Given the description of an element on the screen output the (x, y) to click on. 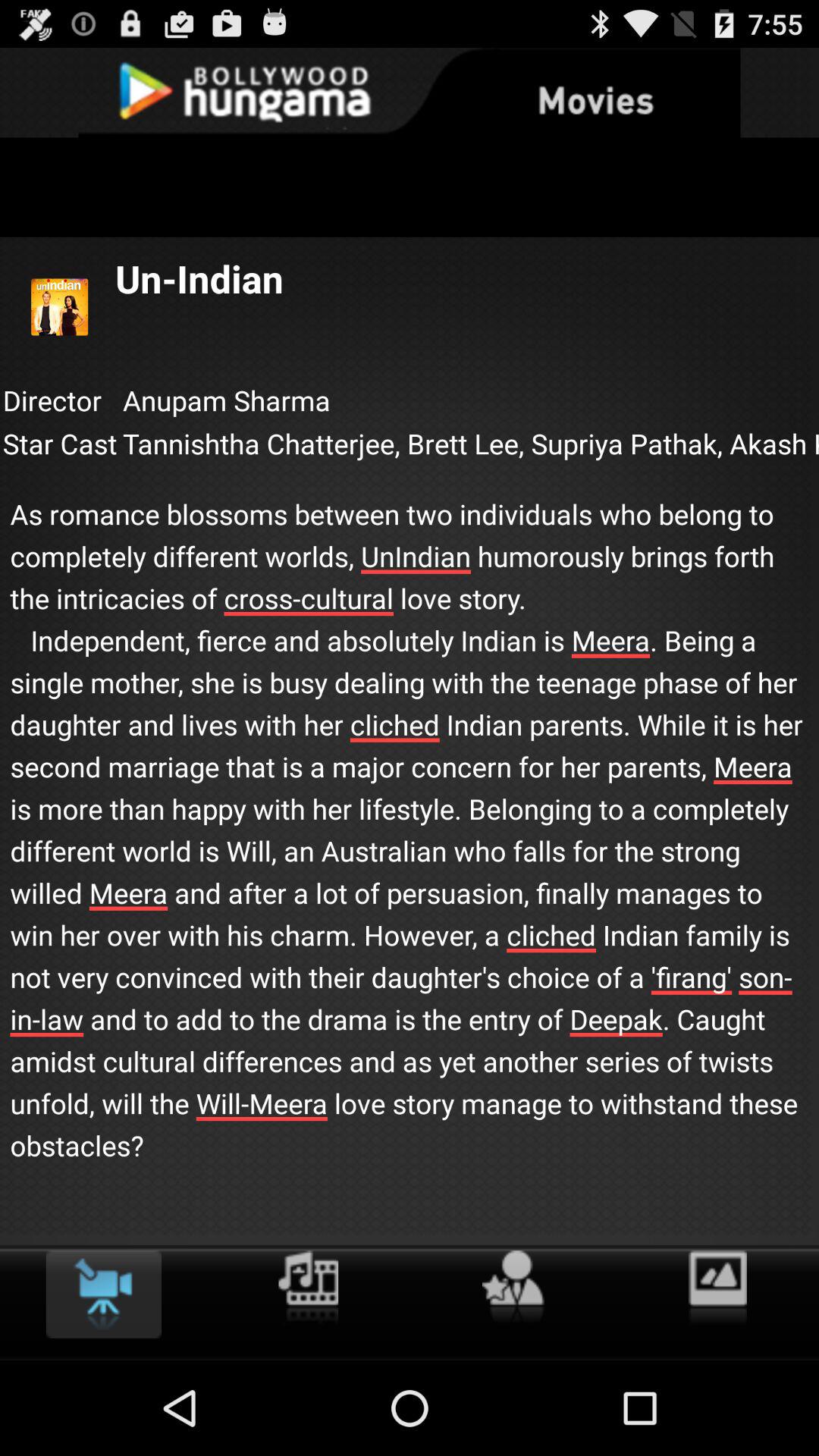
press the as romance blossoms at the center (409, 814)
